Given the description of an element on the screen output the (x, y) to click on. 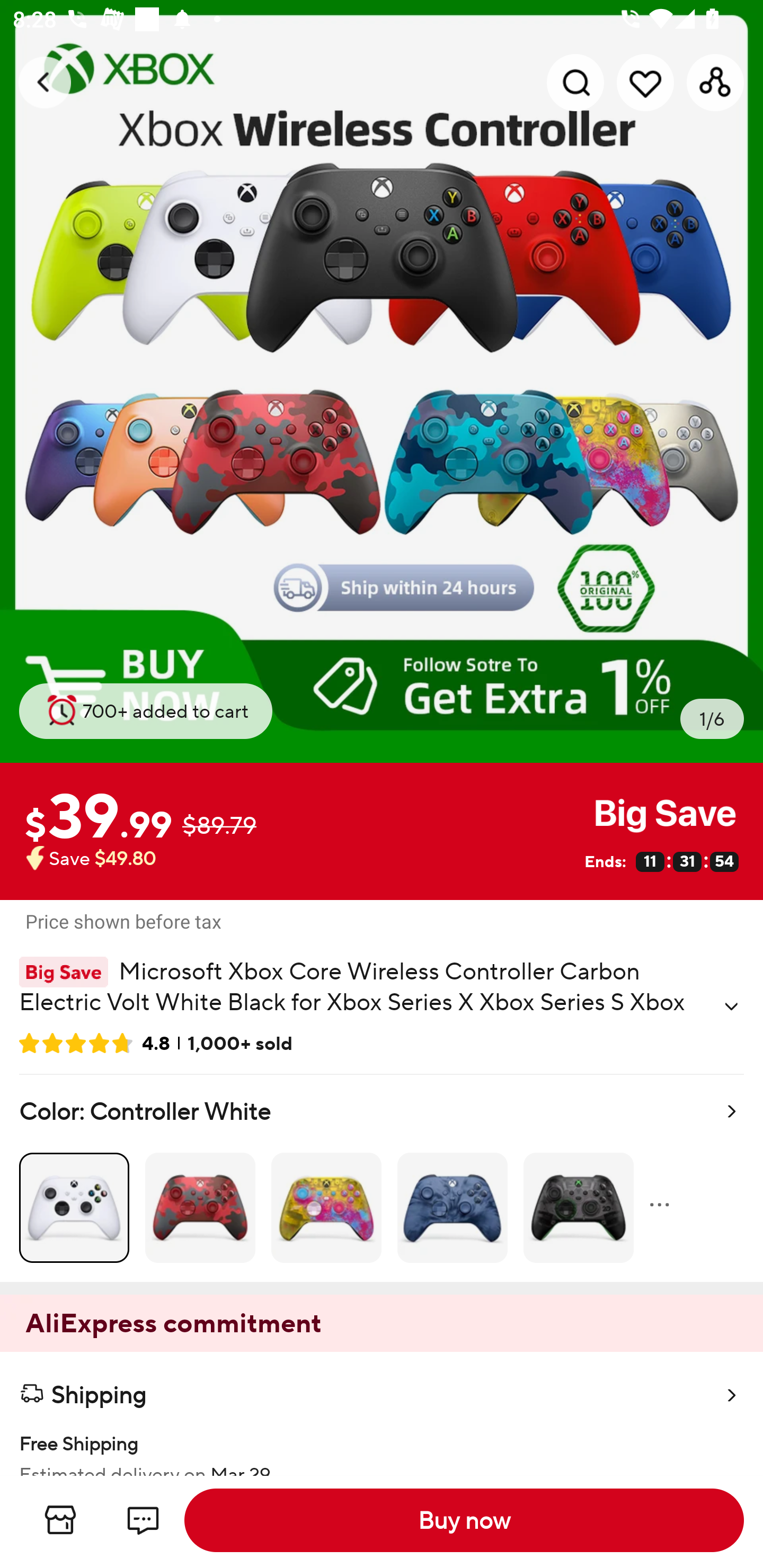
Navigate up (44, 82)
 (730, 1006)
Color: Controller White  (381, 1178)
Free Shipping  Estimated delivery on Mar 29  (381, 1445)
Buy now (463, 1520)
